Given the description of an element on the screen output the (x, y) to click on. 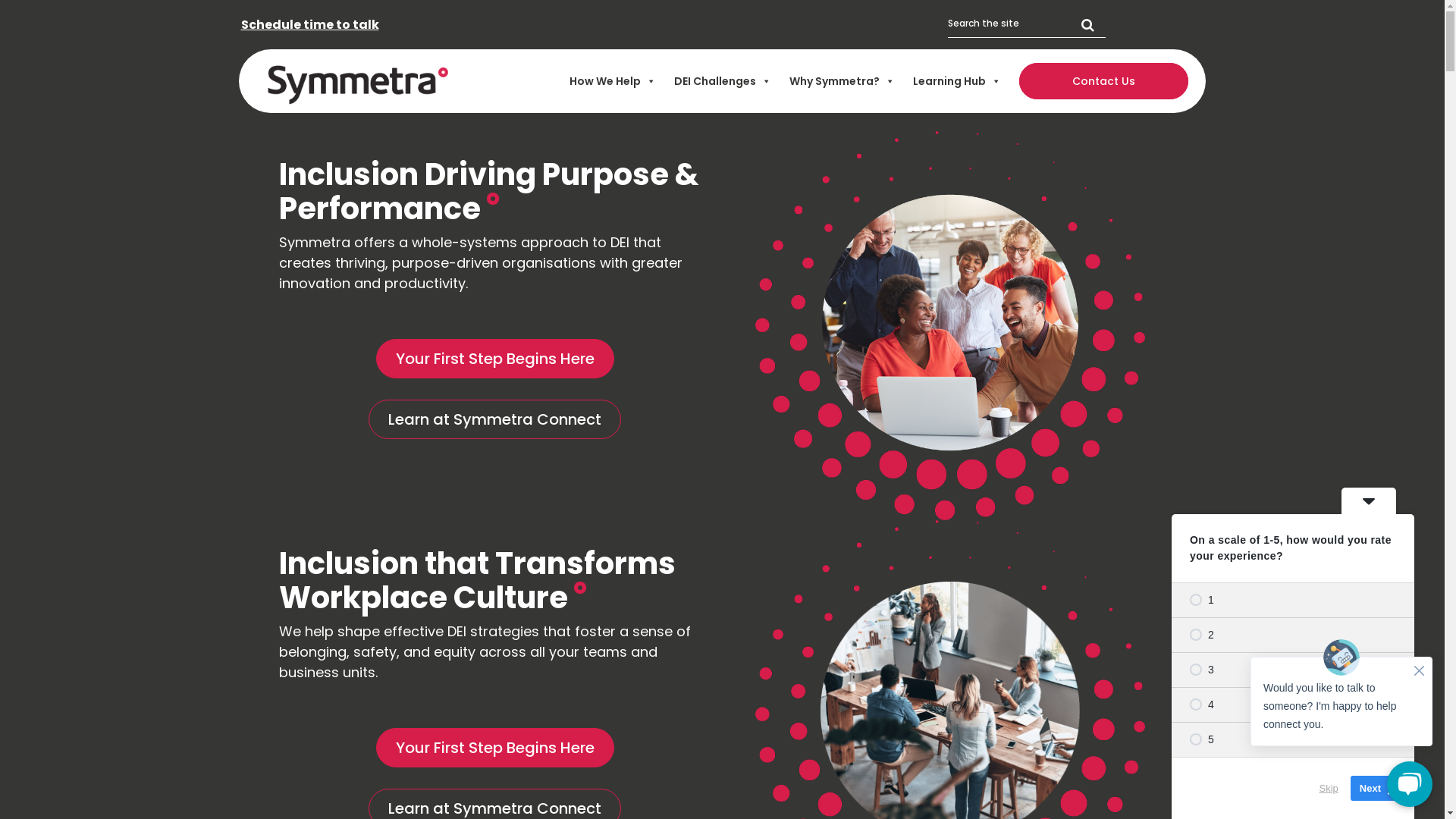
Learn at Symmetra Connect Element type: text (494, 419)
Learning Hub Element type: text (957, 80)
Schedule time to talk Element type: text (310, 23)
How We Help Element type: text (612, 80)
Why Symmetra? Element type: text (841, 80)
Contact Us Element type: text (1103, 80)
Skip Element type: text (1328, 787)
Search for: Element type: hover (1026, 24)
Your First Step Begins Here Element type: text (495, 747)
Your First Step Begins Here Element type: text (495, 358)
Symmetra Element type: hover (357, 81)
Next Element type: text (1376, 787)
DEI Challenges Element type: text (722, 80)
